Given the description of an element on the screen output the (x, y) to click on. 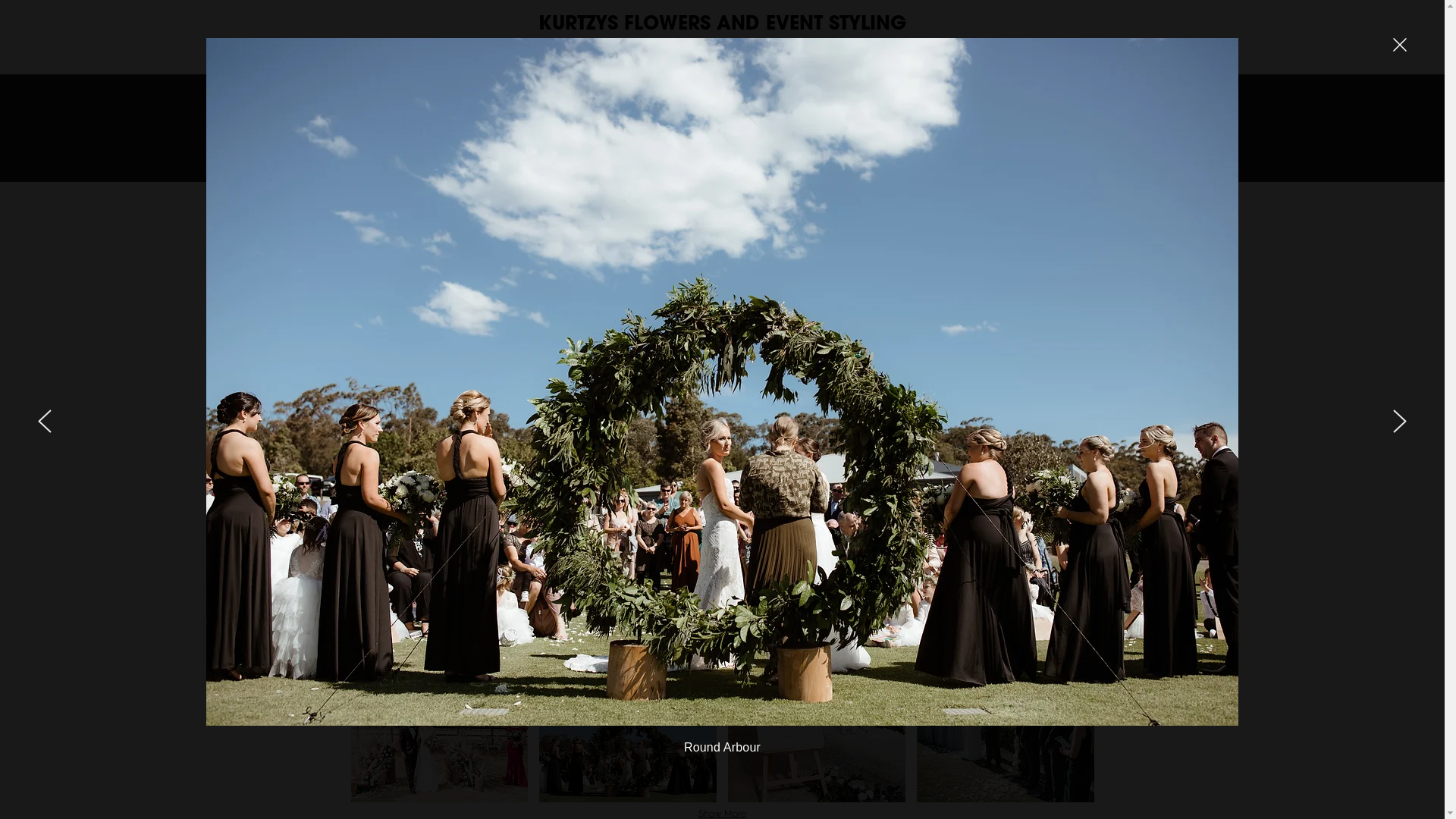
HOME Element type: text (527, 51)
CONTACT Element type: text (908, 51)
HIRE Element type: text (838, 51)
FLORAL DESIGN Element type: text (615, 51)
BLOG Element type: text (779, 51)
KURTZYS FLOWERS AND EVENT STYLING Element type: text (722, 21)
STYLING Element type: text (710, 51)
